Given the description of an element on the screen output the (x, y) to click on. 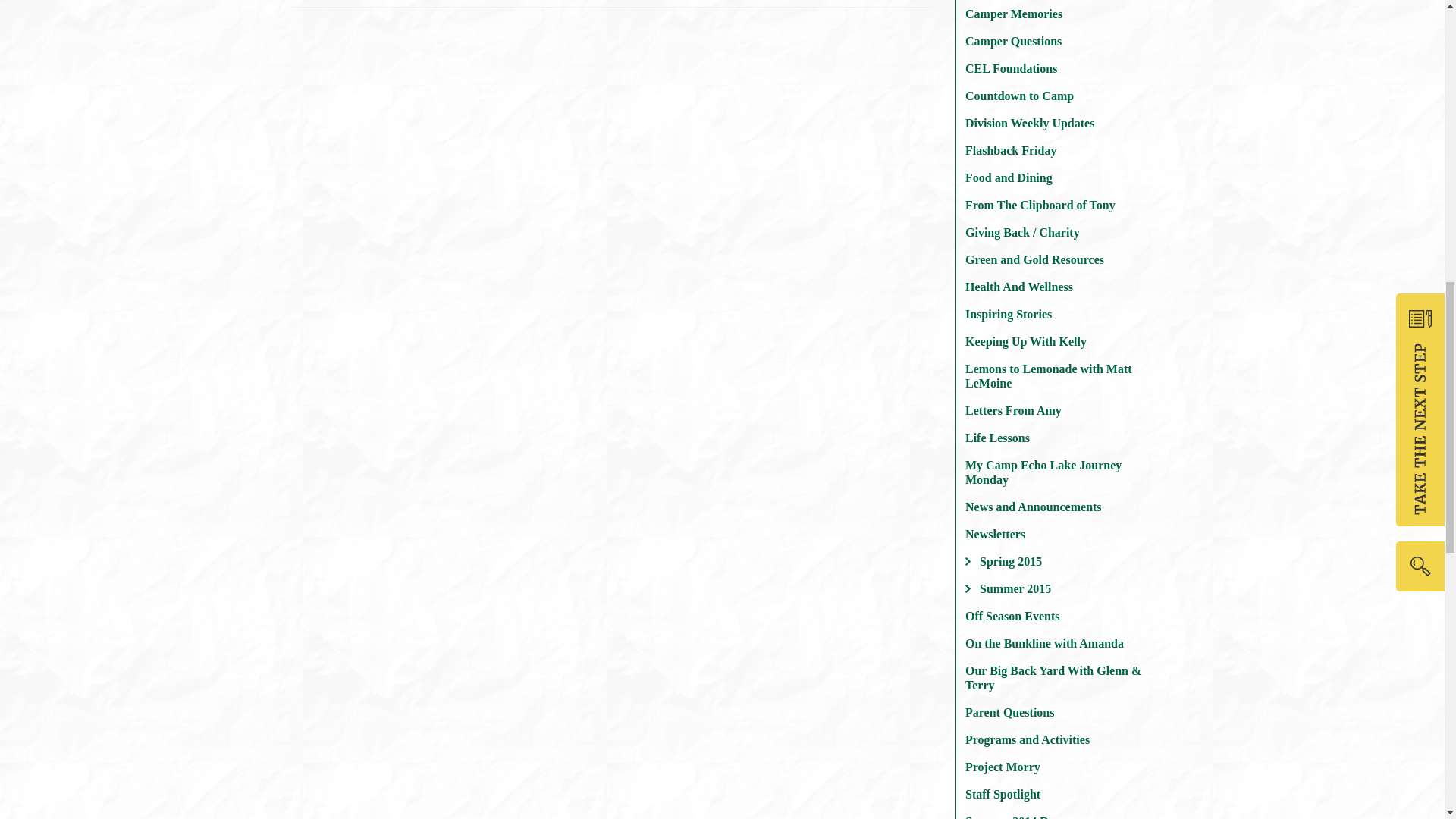
Camper Questions (1055, 41)
Camper Memories (1055, 13)
